Given the description of an element on the screen output the (x, y) to click on. 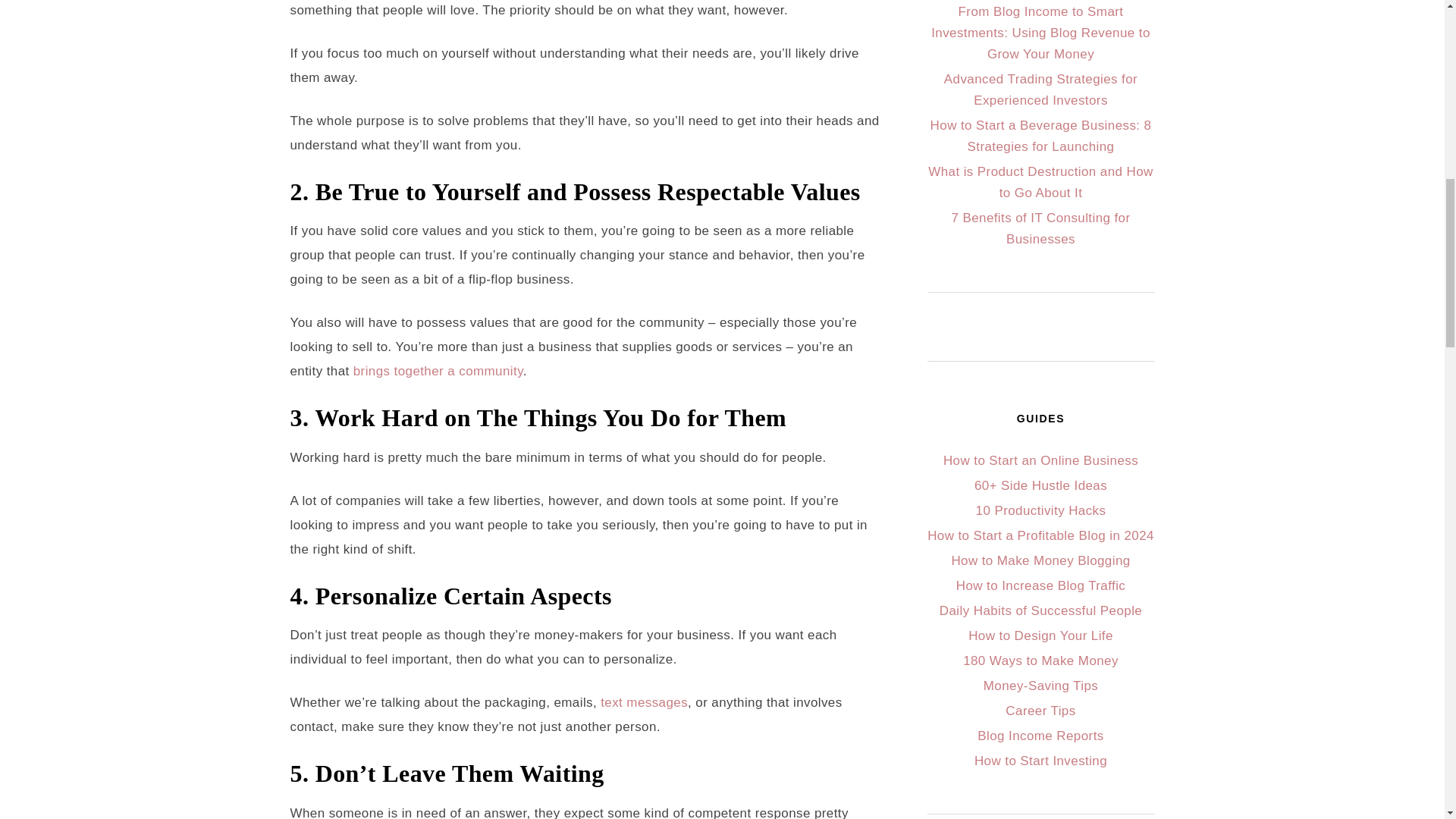
brings together a community (437, 370)
text messages (643, 702)
